Given the description of an element on the screen output the (x, y) to click on. 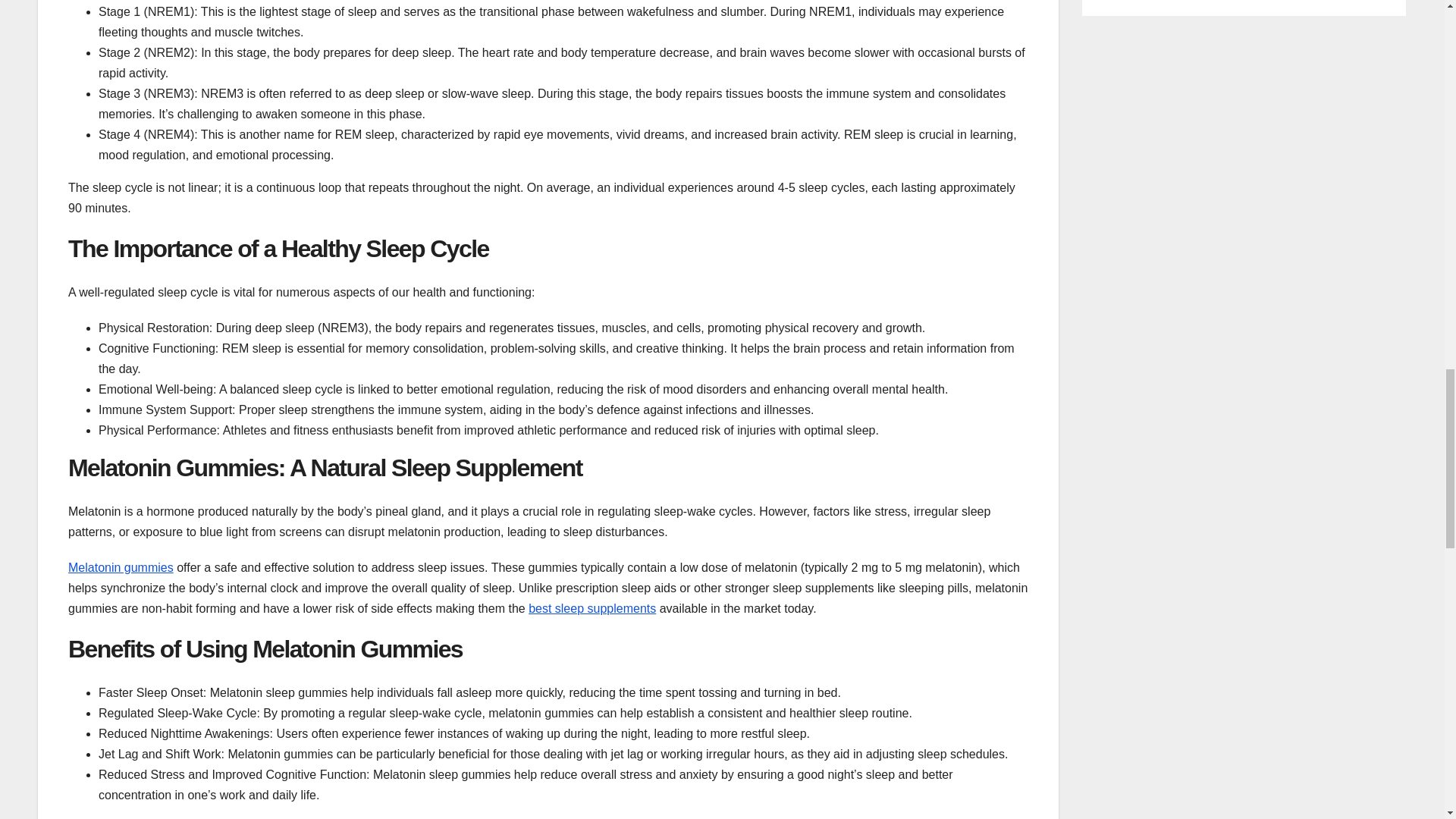
best sleep supplements (592, 608)
Melatonin gummies (120, 567)
